Given the description of an element on the screen output the (x, y) to click on. 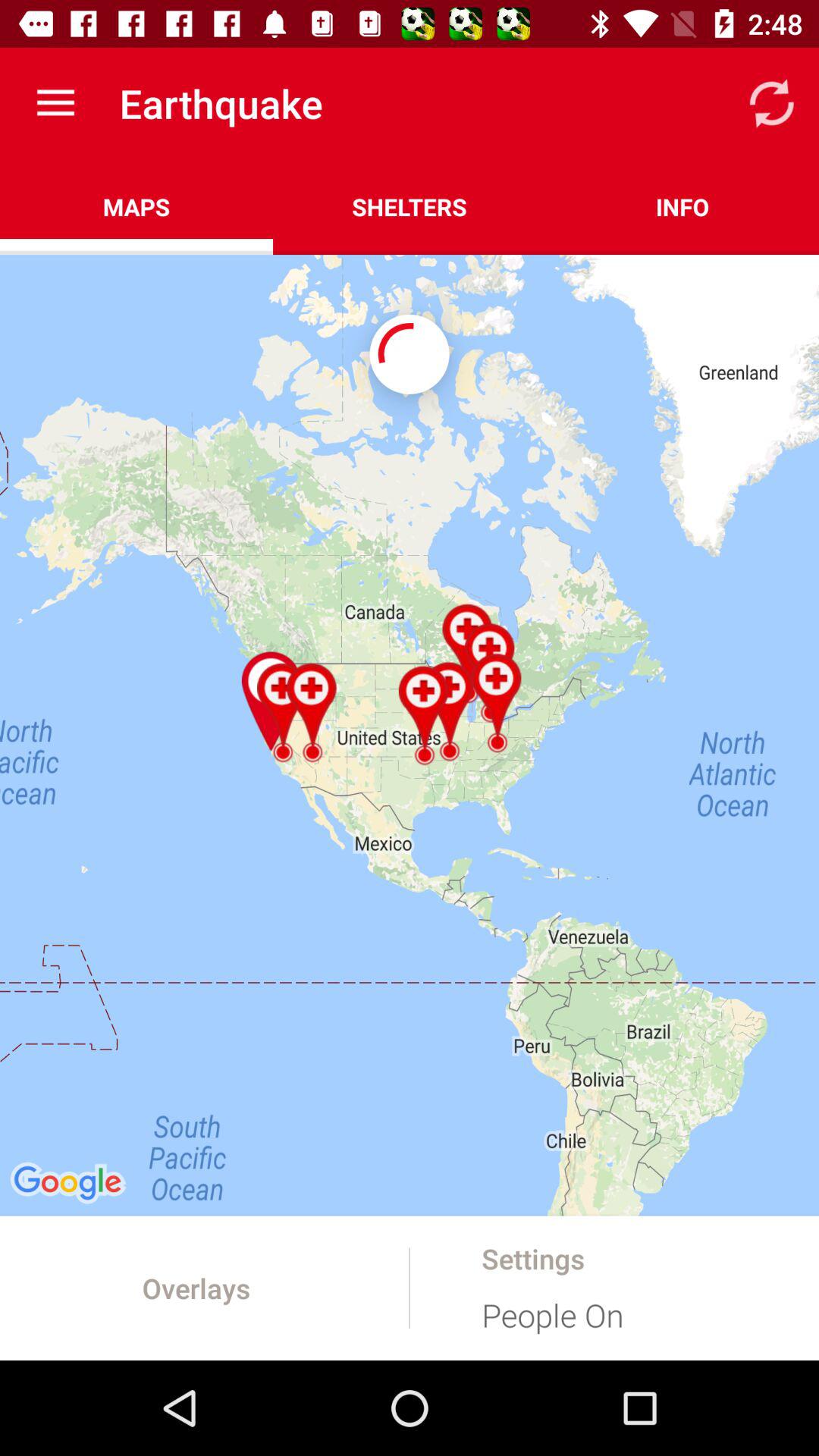
turn off item at the center (409, 734)
